Given the description of an element on the screen output the (x, y) to click on. 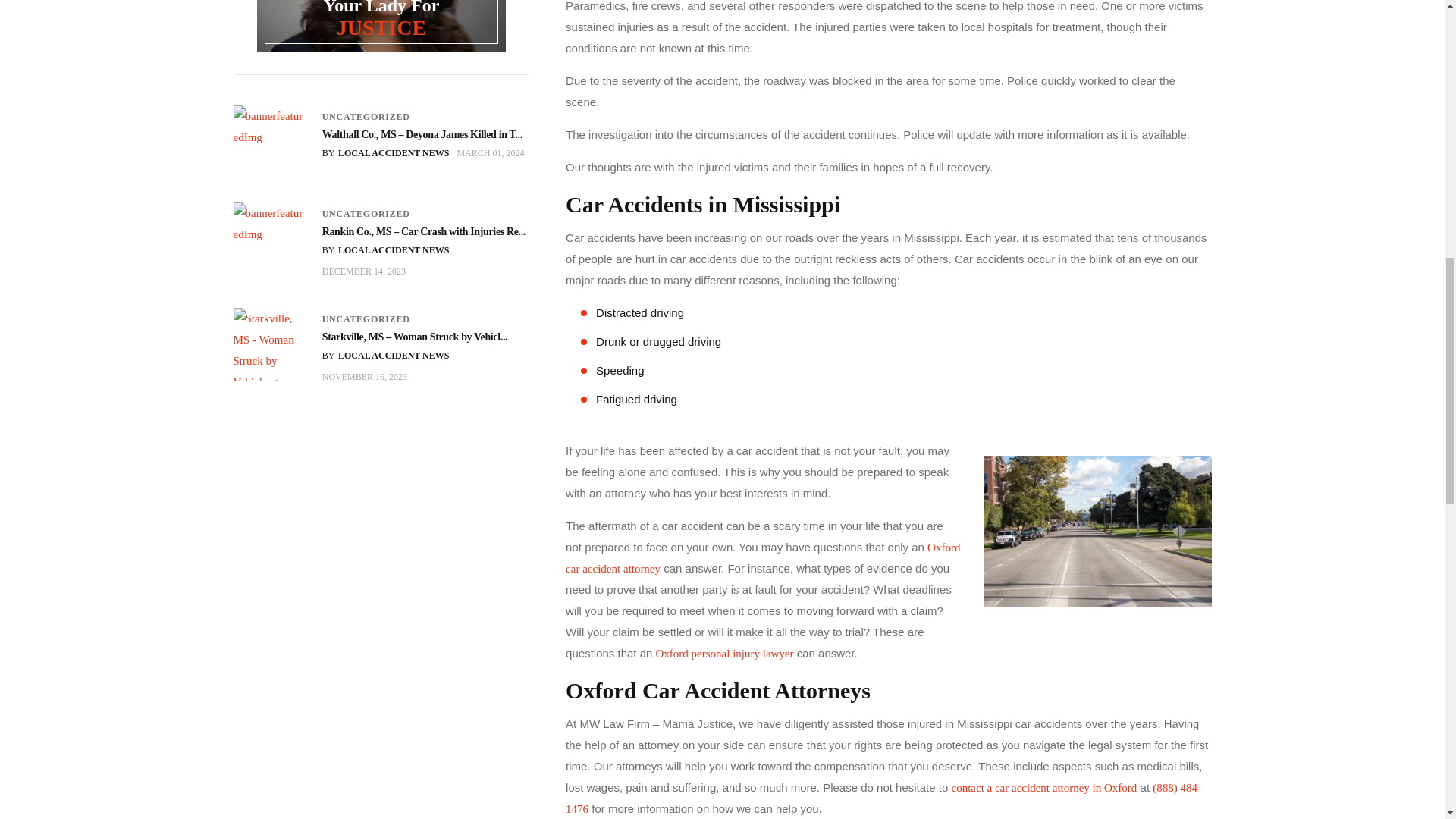
BY LOCAL ACCIDENT NEWS (385, 152)
UNCATEGORIZED (365, 213)
Oxford car accident attorney (762, 557)
Oxford personal injury lawyer (724, 653)
UNCATEGORIZED (365, 116)
UNCATEGORIZED (365, 318)
contact a car accident attorney in Oxford (1043, 787)
BY LOCAL ACCIDENT NEWS (385, 250)
BY LOCAL ACCIDENT NEWS (385, 355)
